Given the description of an element on the screen output the (x, y) to click on. 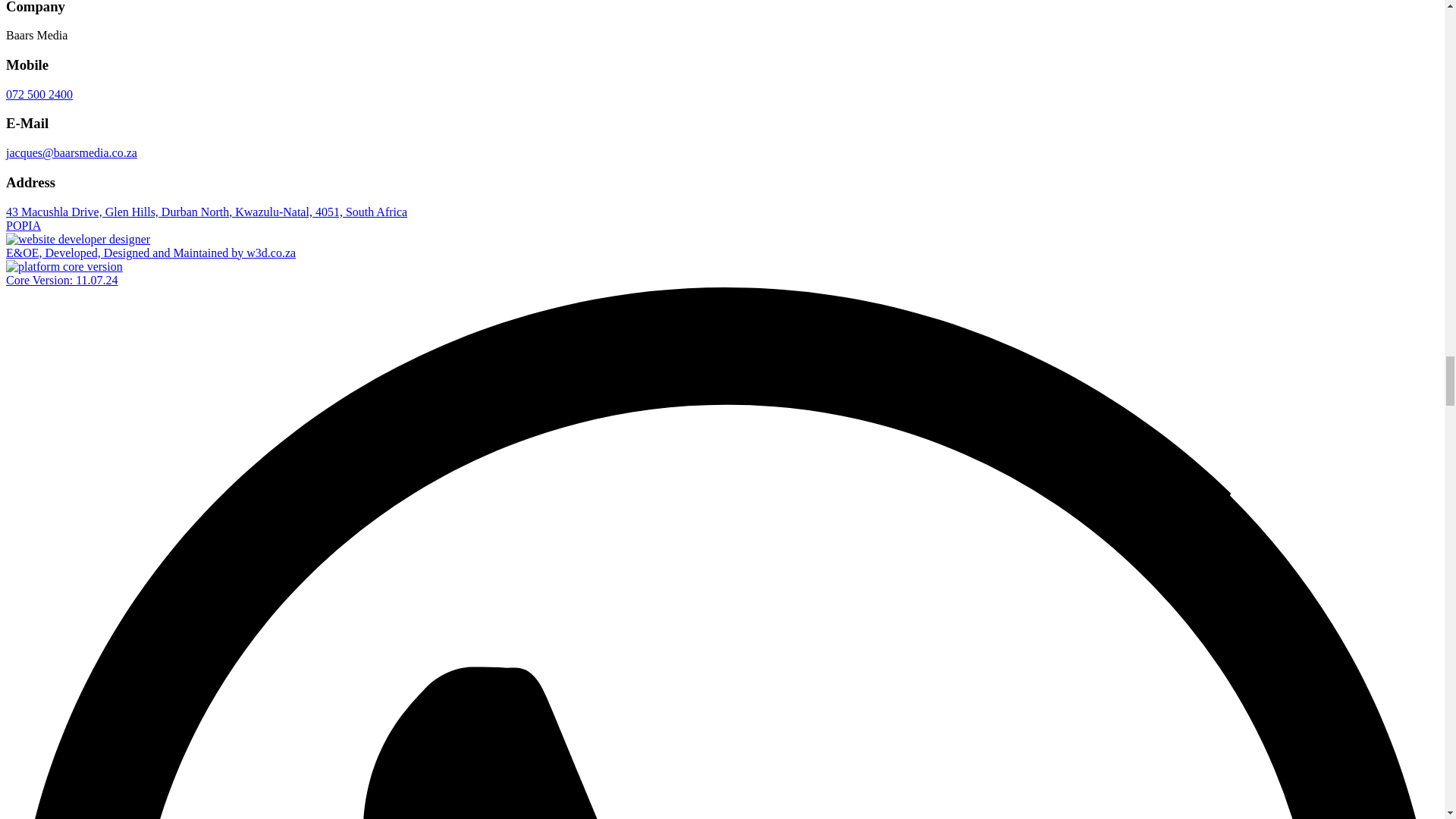
POPIA (22, 225)
072 500 2400 (38, 93)
